Given the description of an element on the screen output the (x, y) to click on. 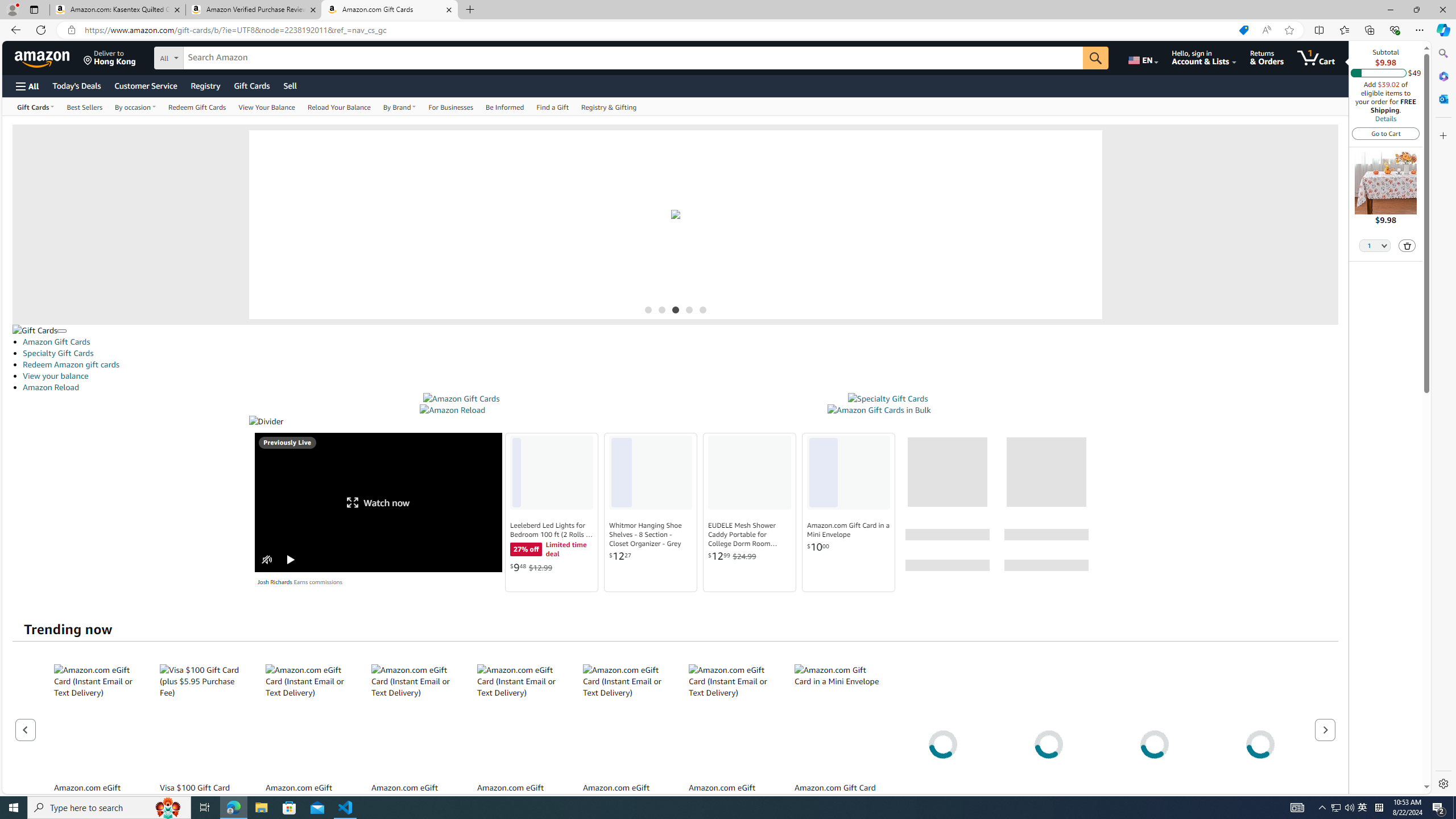
Specialty Gift Cards (680, 352)
